Given the description of an element on the screen output the (x, y) to click on. 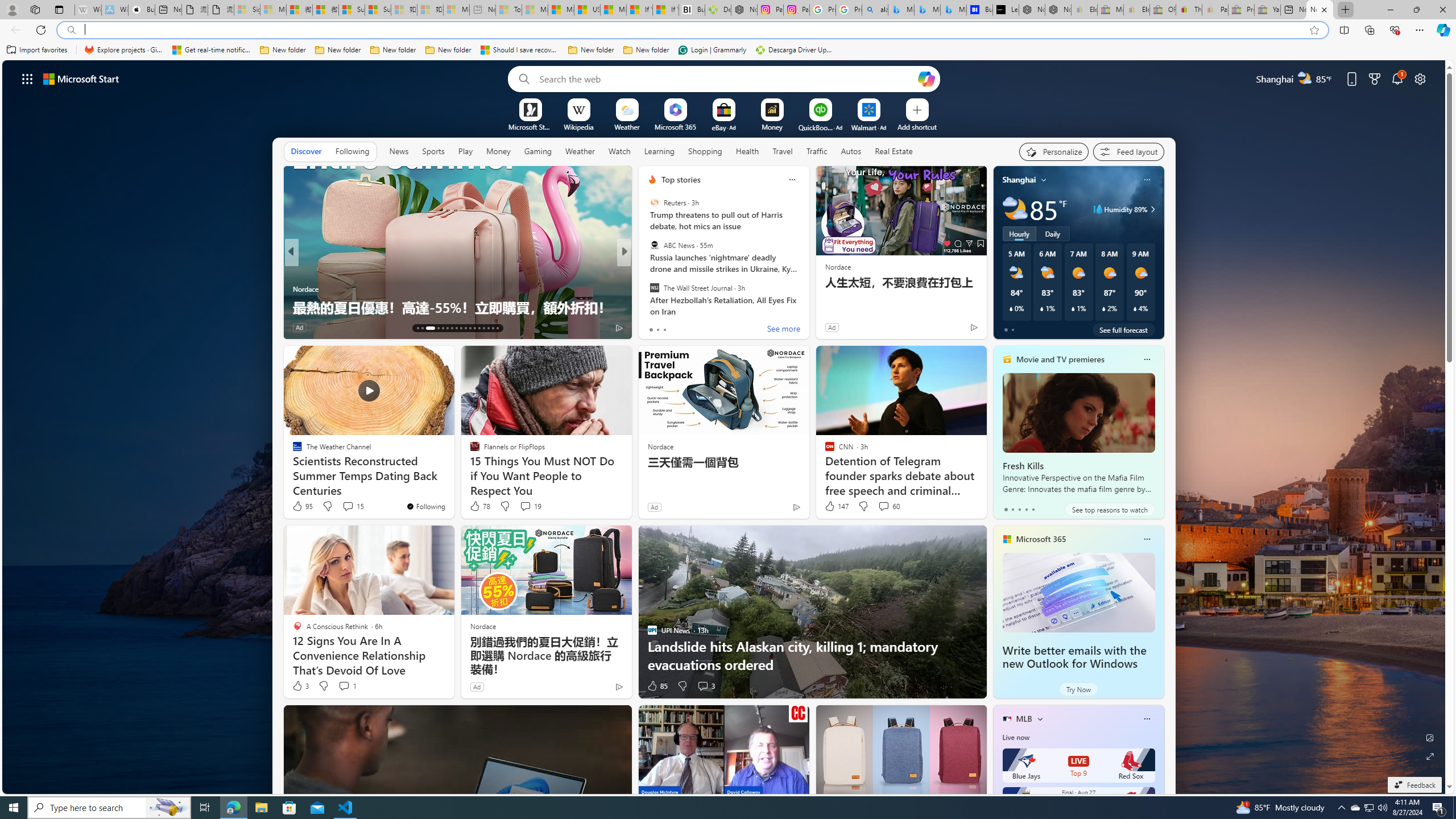
View comments 22 Comment (703, 327)
AutomationID: tab-14 (422, 328)
Shopping (705, 151)
Avoid These 18 Things to Make A Good Name For Yourself (807, 298)
Watch (619, 151)
Class: weather-current-precipitation-glyph (1134, 308)
